Given the description of an element on the screen output the (x, y) to click on. 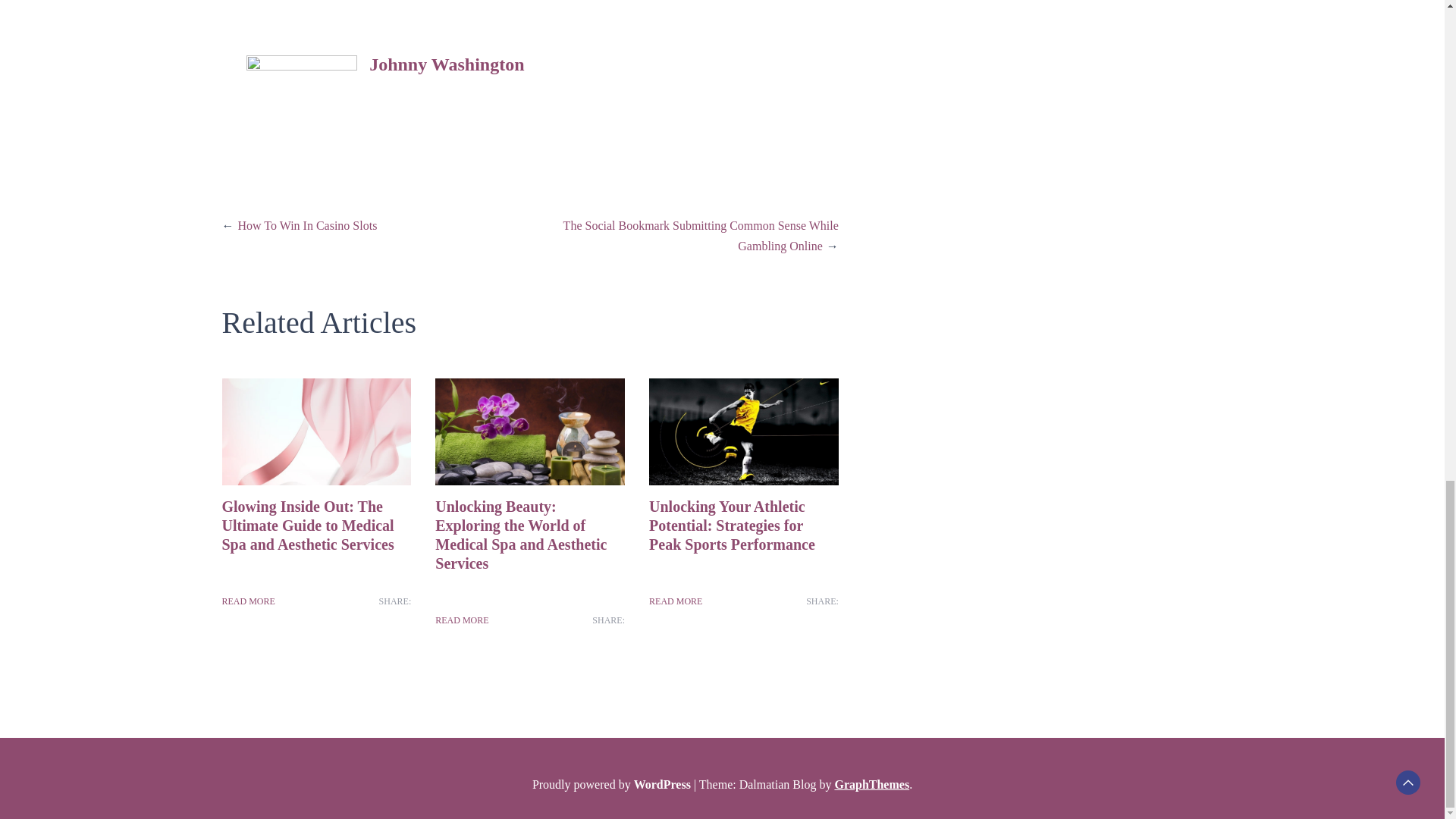
READ MORE (461, 620)
Johnny Washington (446, 64)
How To Win In Casino Slots (307, 225)
Proudly powered by WordPress (613, 784)
READ MORE (675, 601)
READ MORE (248, 601)
GraphThemes (871, 784)
